Given the description of an element on the screen output the (x, y) to click on. 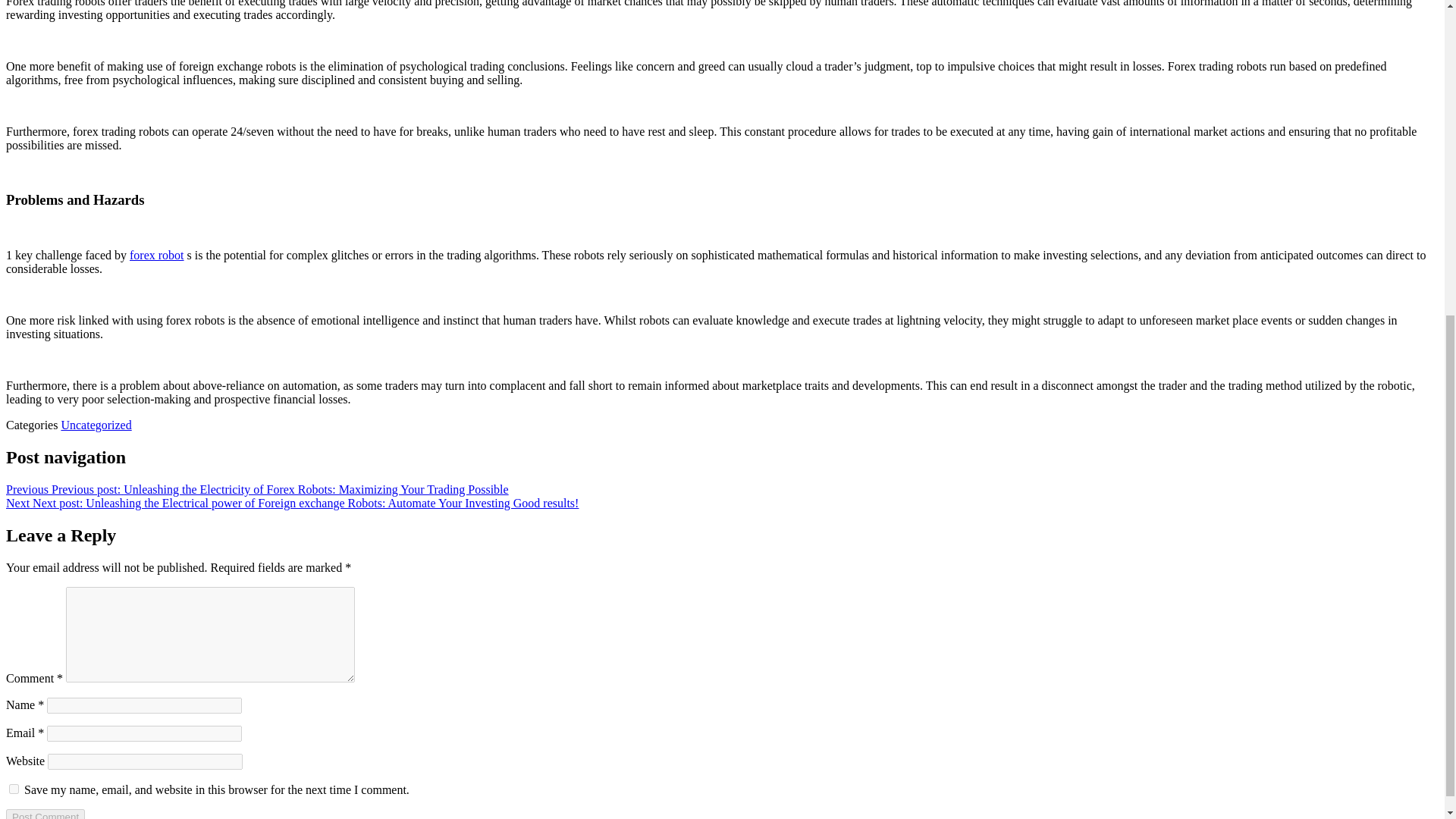
yes (13, 788)
Uncategorized (96, 424)
forex robot (156, 254)
